Given the description of an element on the screen output the (x, y) to click on. 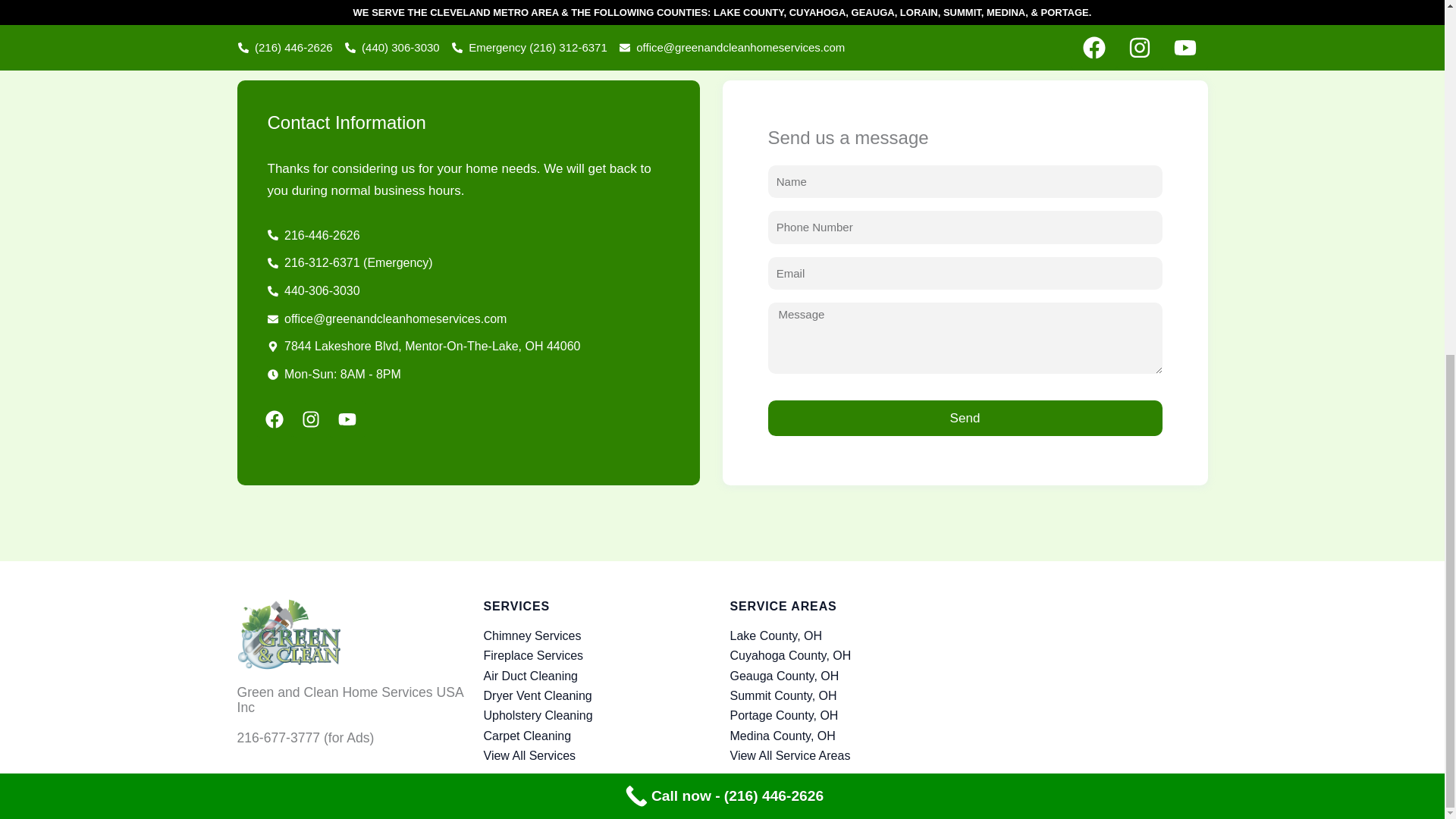
Google Business Profile (1092, 685)
